Given the description of an element on the screen output the (x, y) to click on. 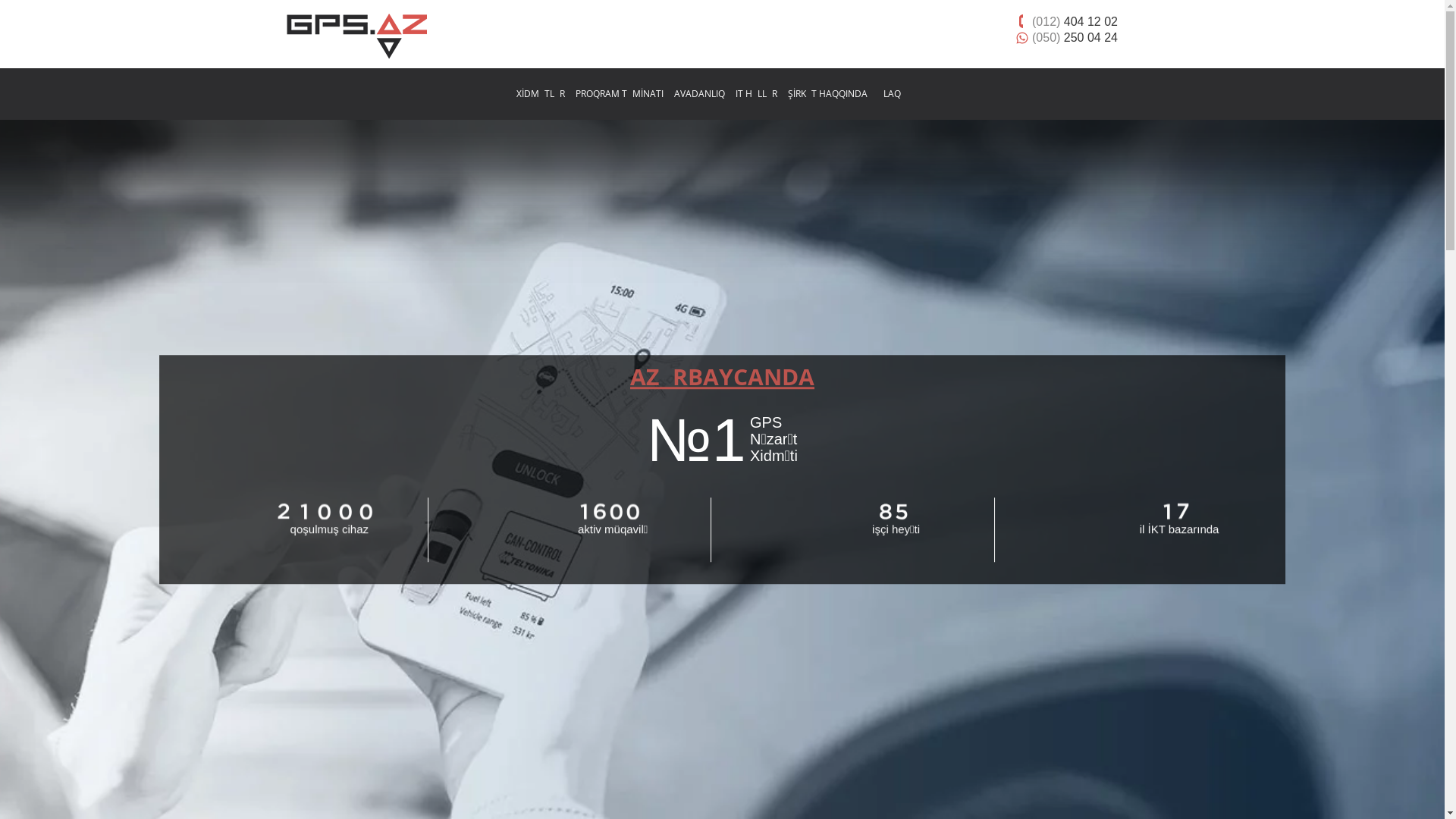
(012) 404 12 02 Element type: text (1074, 21)
(050) 250 04 24 Element type: text (1074, 37)
AVADANLIQ Element type: text (698, 93)
